Given the description of an element on the screen output the (x, y) to click on. 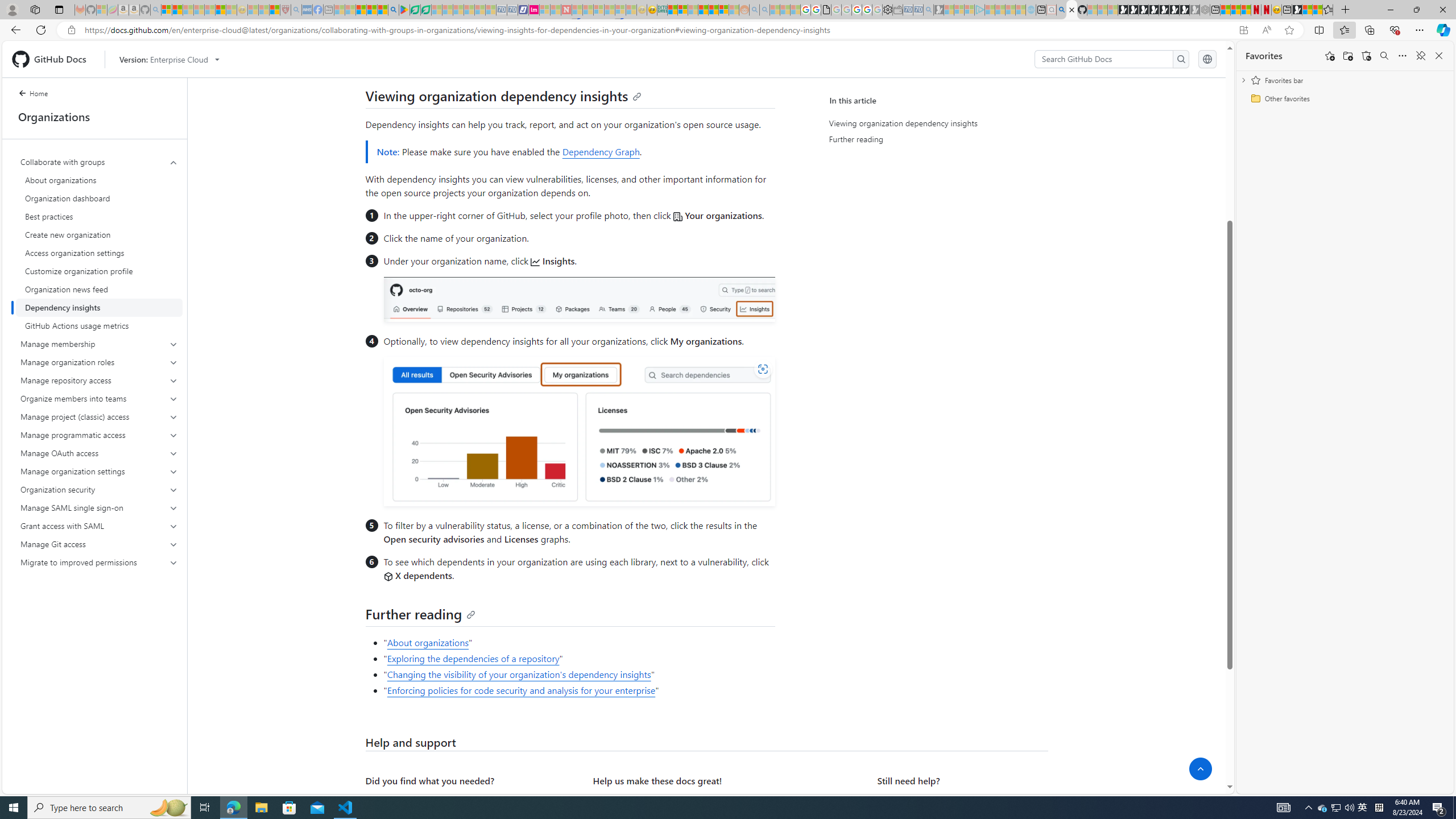
"Exploring the dependencies of a repository" (578, 658)
Create new organization (99, 235)
Jobs - lastminute.com Investor Portal (534, 9)
Manage OAuth access (99, 452)
